Given the description of an element on the screen output the (x, y) to click on. 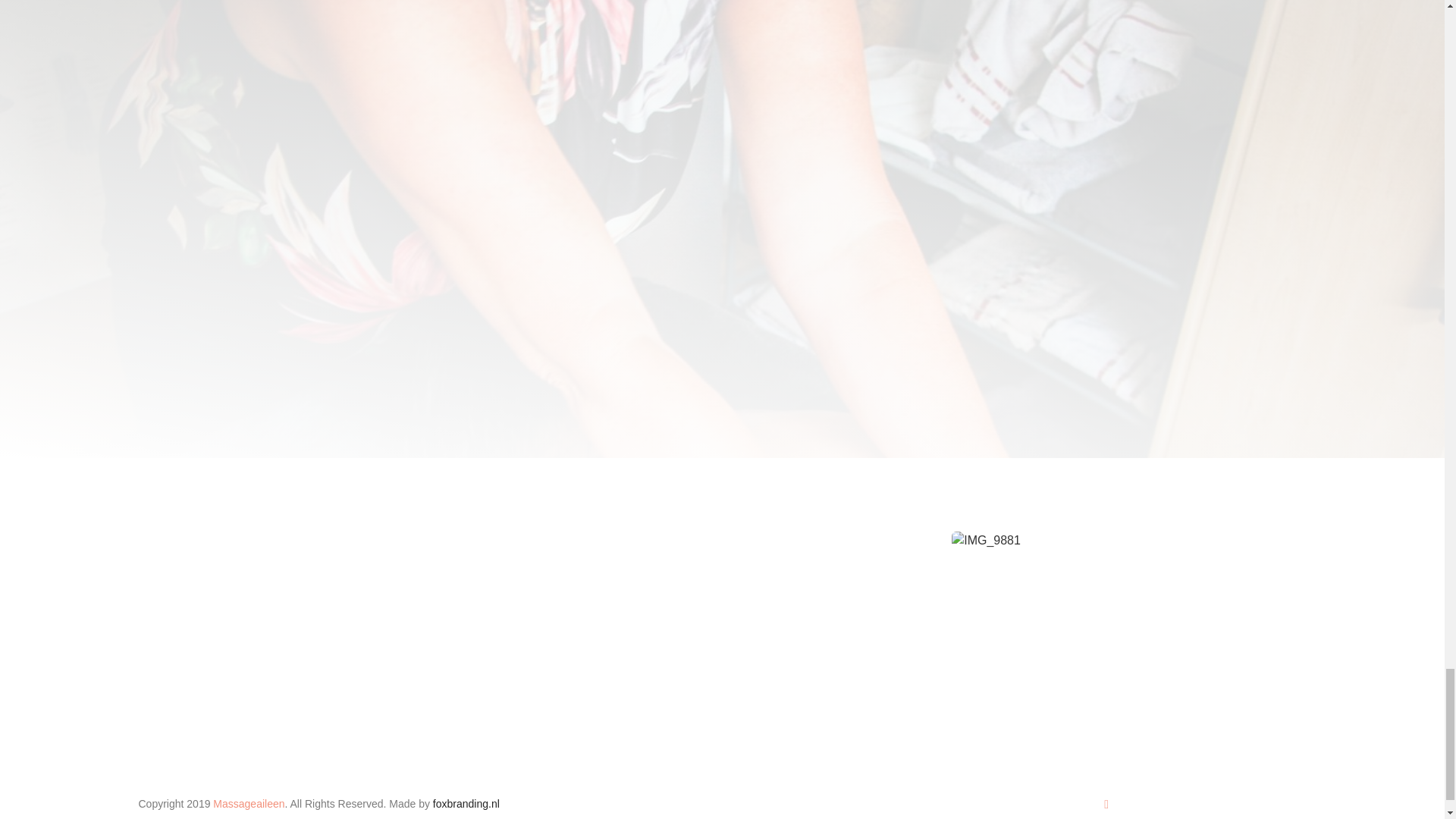
foxbranding.nl (465, 803)
Massageaileen (247, 803)
